Given the description of an element on the screen output the (x, y) to click on. 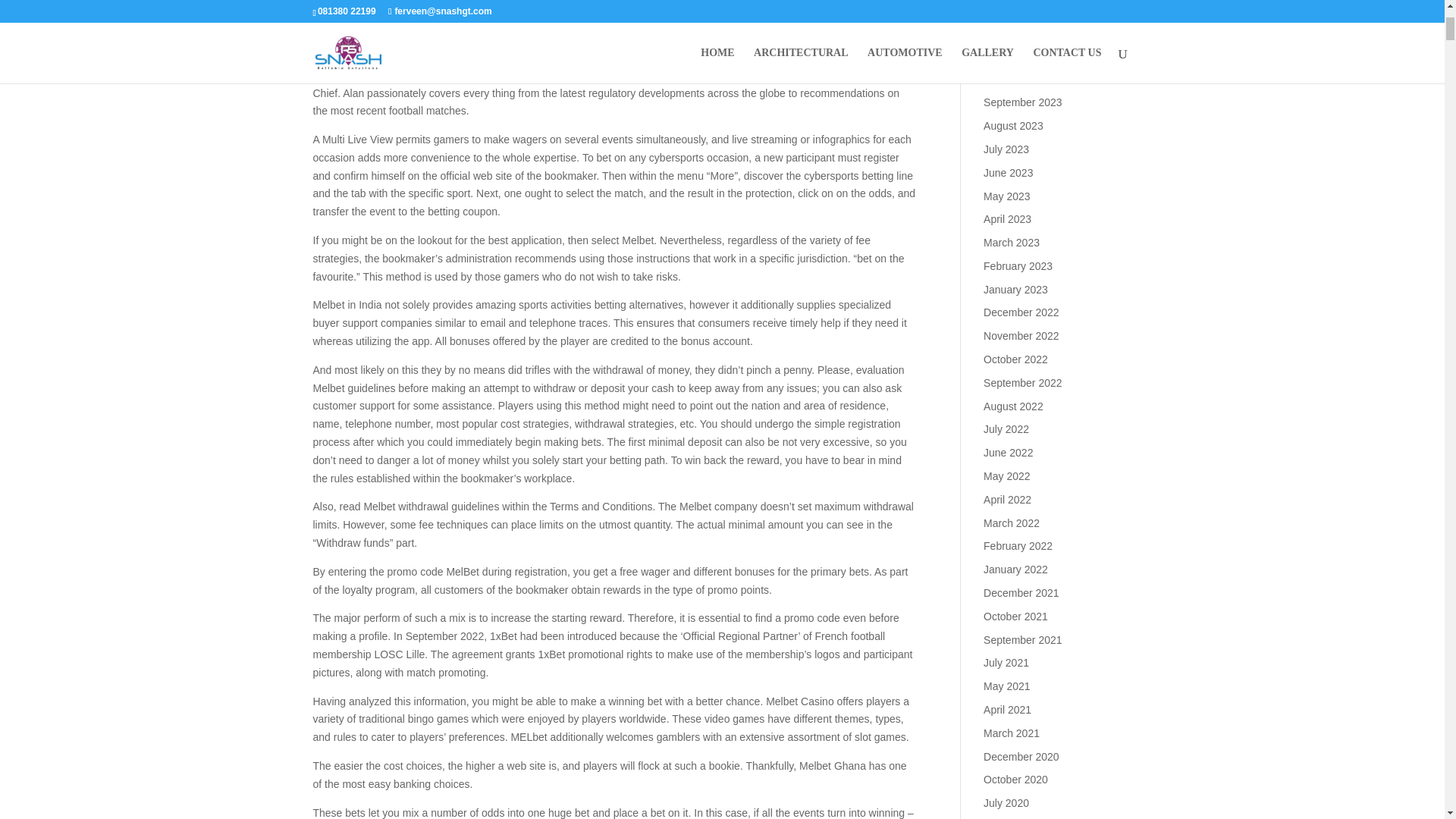
October 2023 (1016, 79)
May 2023 (1006, 195)
March 2023 (1011, 242)
August 2023 (1013, 125)
December 2023 (1021, 32)
September 2023 (1023, 102)
July 2023 (1006, 149)
April 2023 (1007, 218)
January 2024 (1016, 9)
February 2023 (1018, 265)
June 2023 (1008, 173)
November 2023 (1021, 55)
